Given the description of an element on the screen output the (x, y) to click on. 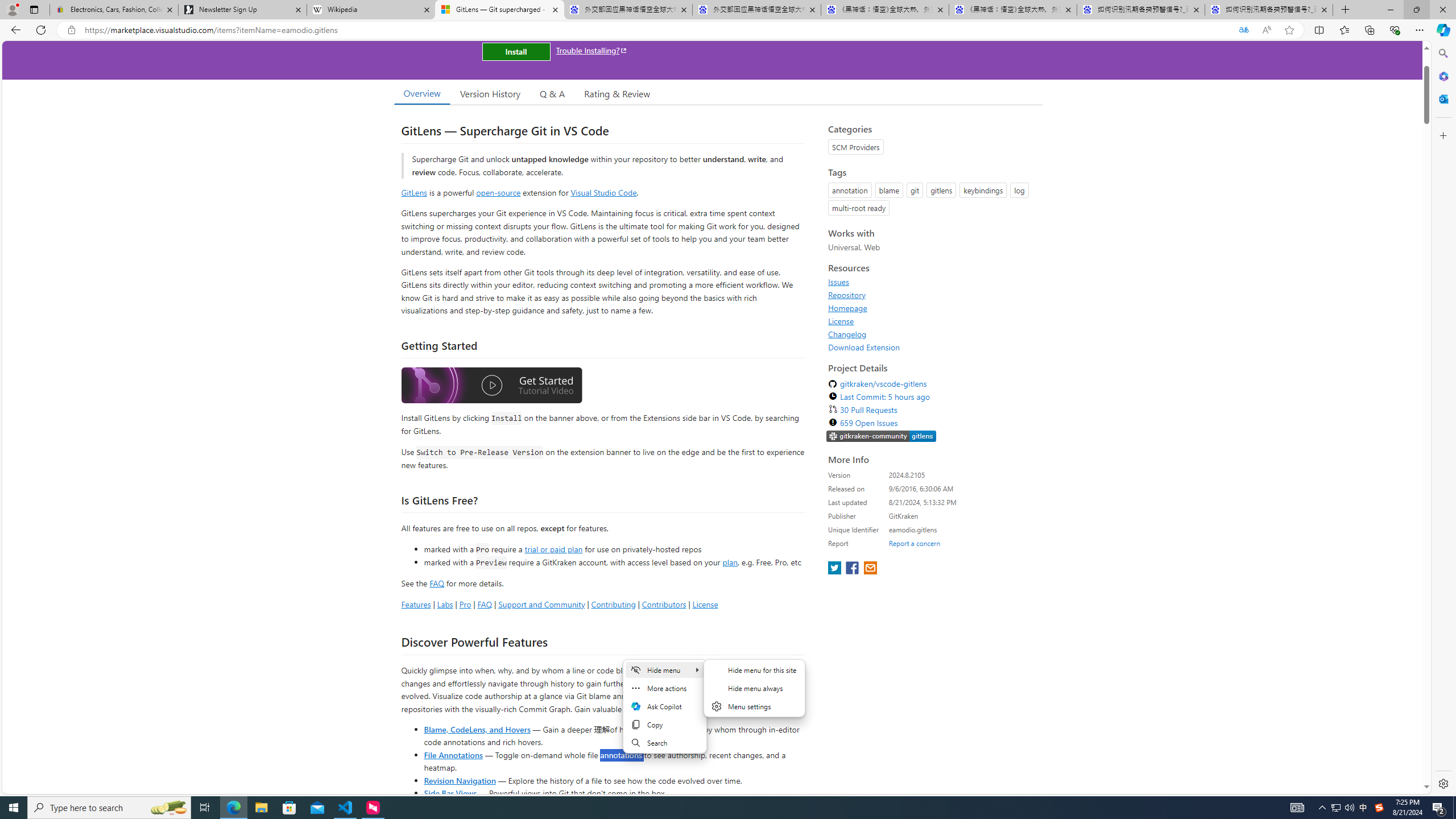
Overview (421, 92)
Hide menu (664, 669)
Pro (464, 603)
Download Extension (863, 346)
License (840, 320)
GitLens (414, 192)
share extension on twitter (835, 568)
